Given the description of an element on the screen output the (x, y) to click on. 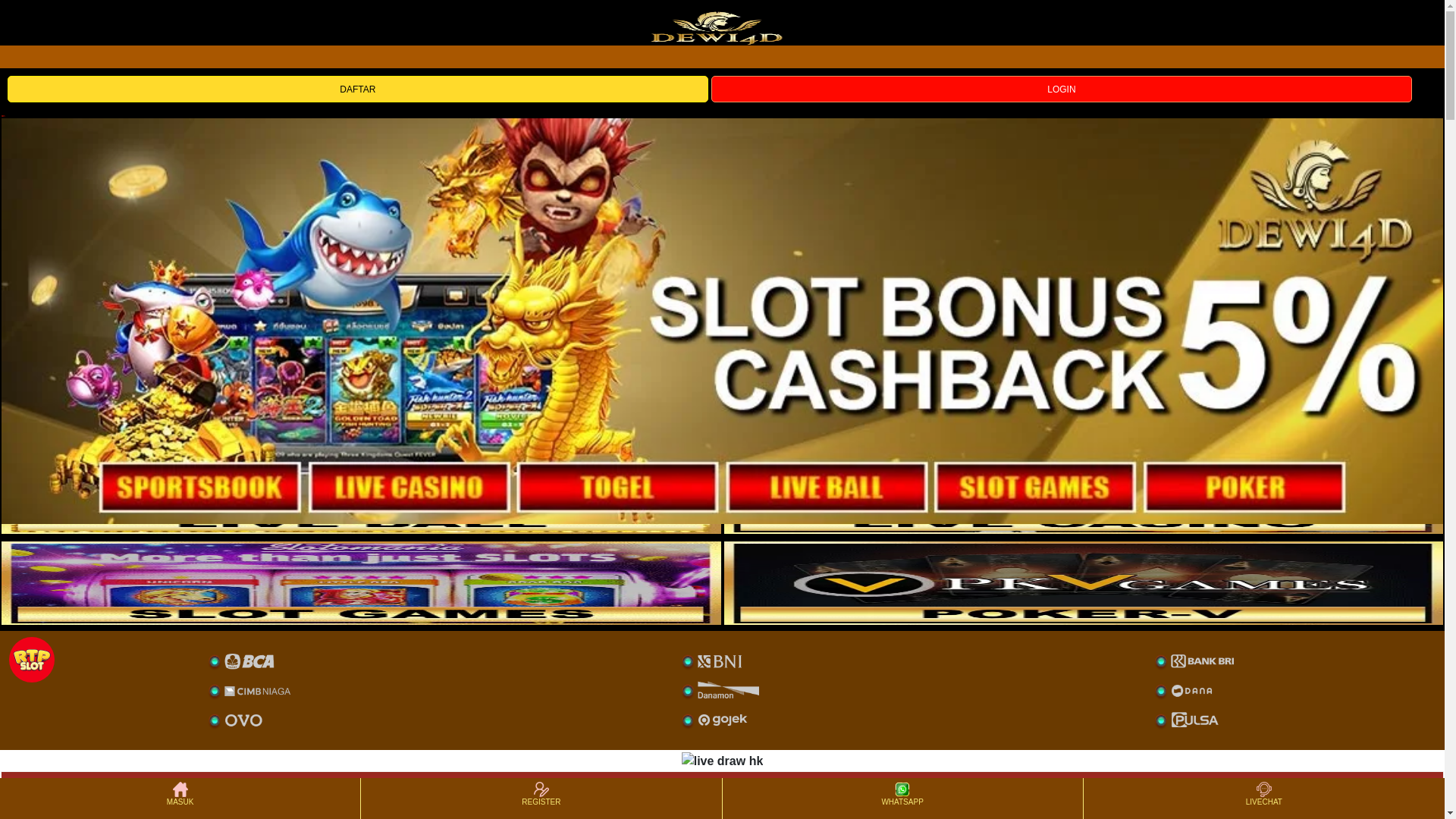
an Element type: text (722, 234)
LOGIN Element type: text (1061, 87)
DAFTAR Element type: text (359, 87)
LIVECHAT Element type: text (1264, 798)
LOGIN Element type: text (1061, 88)
DAFTAR Element type: text (357, 88)
WHATSAPP Element type: text (901, 798)
MASUK Element type: text (179, 798)
REGISTER Element type: text (540, 798)
